Given the description of an element on the screen output the (x, y) to click on. 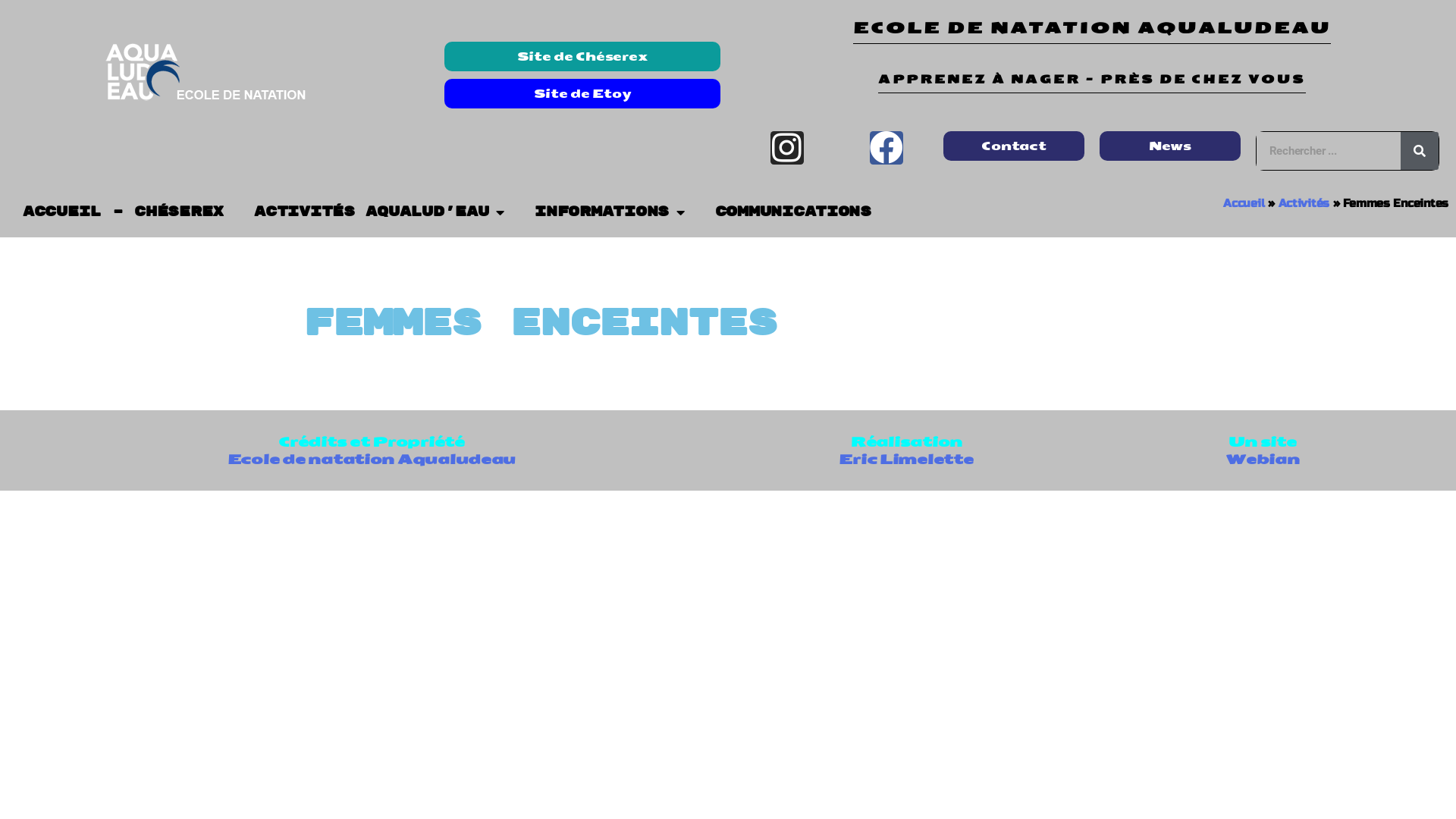
Informations Element type: text (609, 211)
Webian Element type: text (1262, 458)
Site de Etoy Element type: text (582, 93)
Contact Element type: text (1013, 145)
Eric Limelette Element type: text (905, 458)
News Element type: text (1169, 145)
Accueil Element type: text (1243, 203)
Ecole de natation Aqualudeau Element type: text (371, 458)
Communications Element type: text (792, 211)
ECOLE DE NATATION AQUALUDEAU Element type: text (1091, 31)
